Given the description of an element on the screen output the (x, y) to click on. 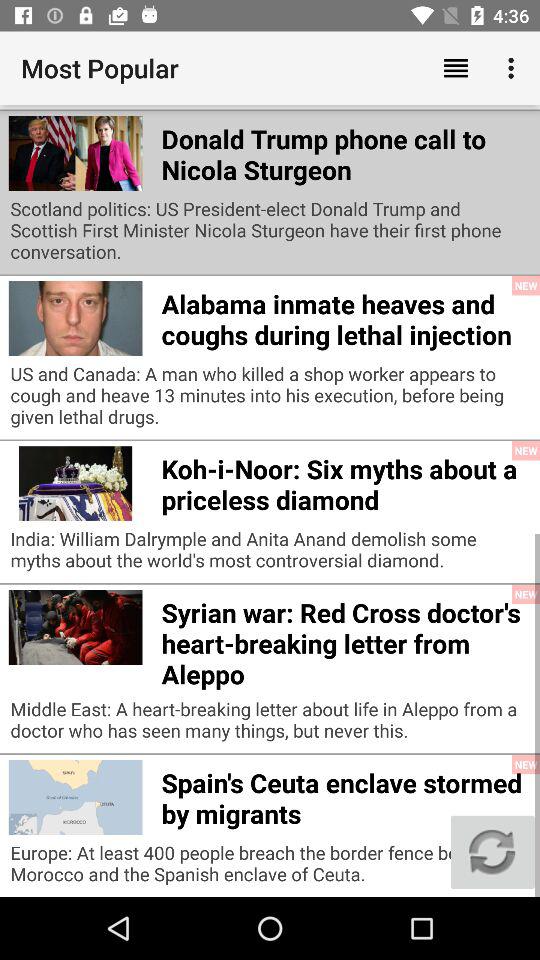
select icon next to most popular (455, 67)
